Given the description of an element on the screen output the (x, y) to click on. 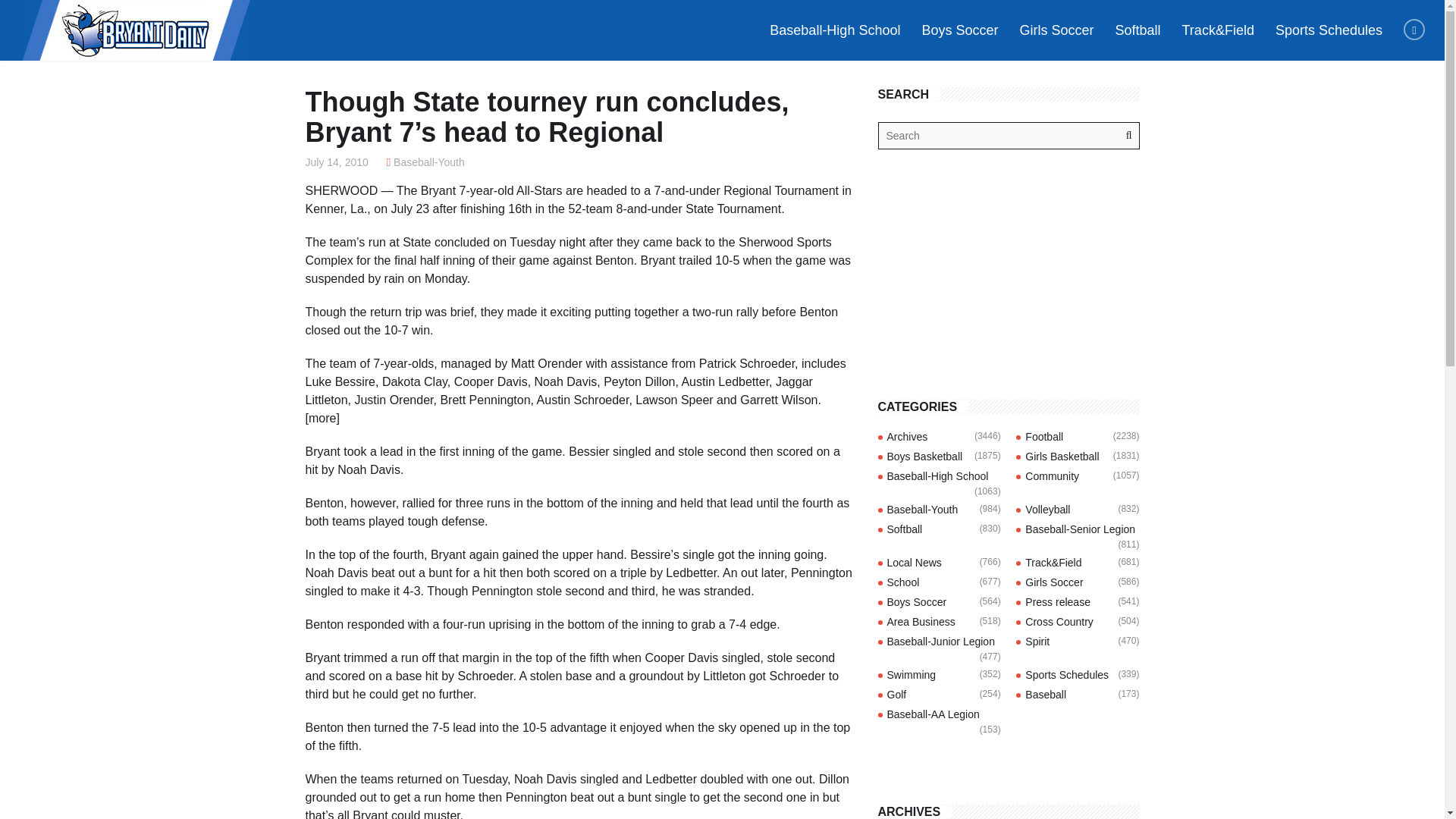
Football (1043, 436)
Baseball-High School (937, 476)
Sports Schedules (1329, 30)
Boys Basketball (924, 456)
Softball (904, 529)
Girls Soccer (1054, 582)
Softball (1136, 30)
Baseball-Youth (922, 509)
Archives (907, 436)
Volleyball (1047, 509)
